Given the description of an element on the screen output the (x, y) to click on. 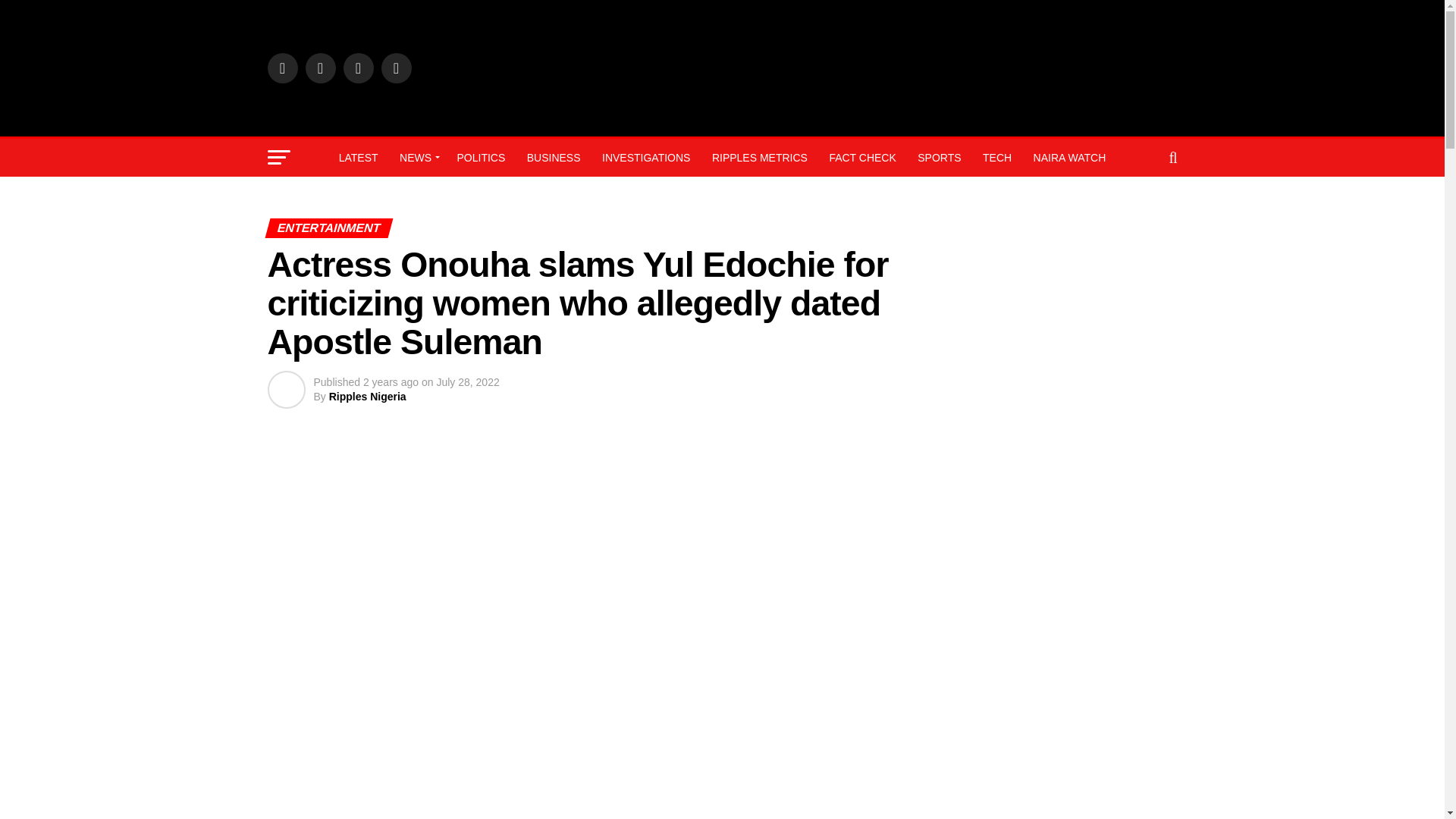
Posts by Ripples Nigeria (367, 396)
POLITICS (479, 157)
NEWS (417, 157)
LATEST (358, 157)
BUSINESS (553, 157)
